Given the description of an element on the screen output the (x, y) to click on. 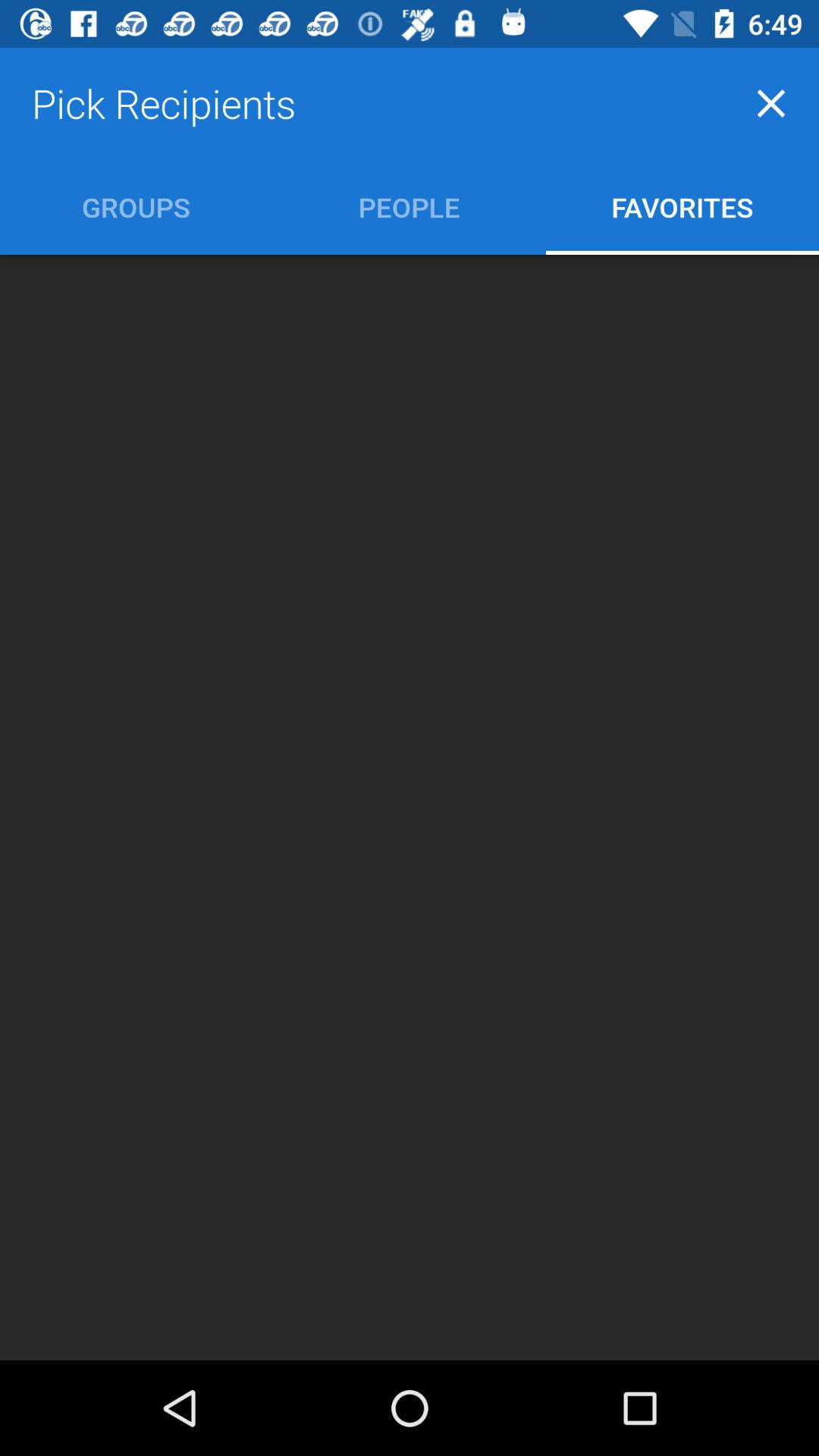
scroll to groups (136, 206)
